Given the description of an element on the screen output the (x, y) to click on. 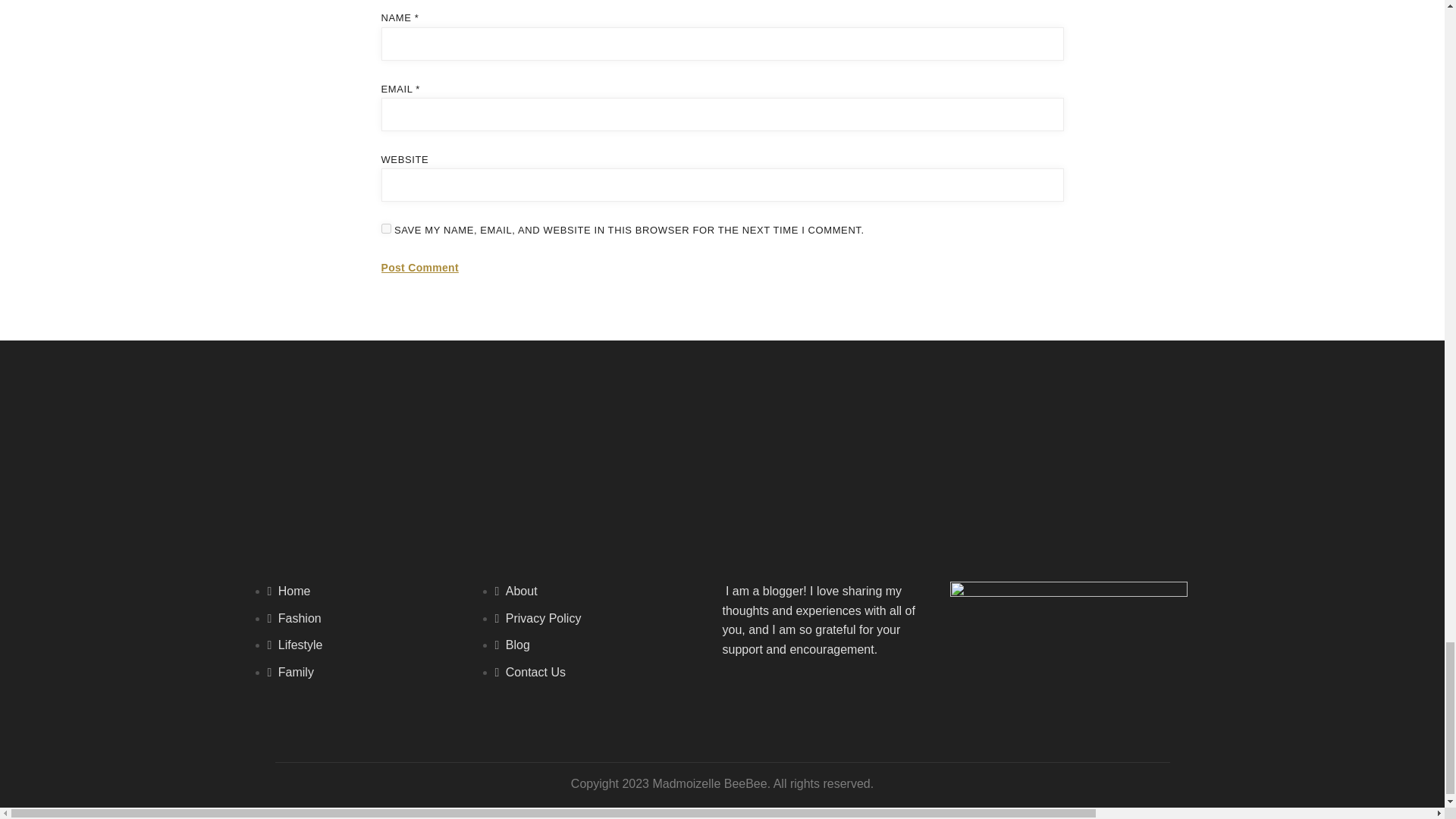
Post Comment (419, 268)
yes (385, 228)
Post Comment (419, 268)
